Given the description of an element on the screen output the (x, y) to click on. 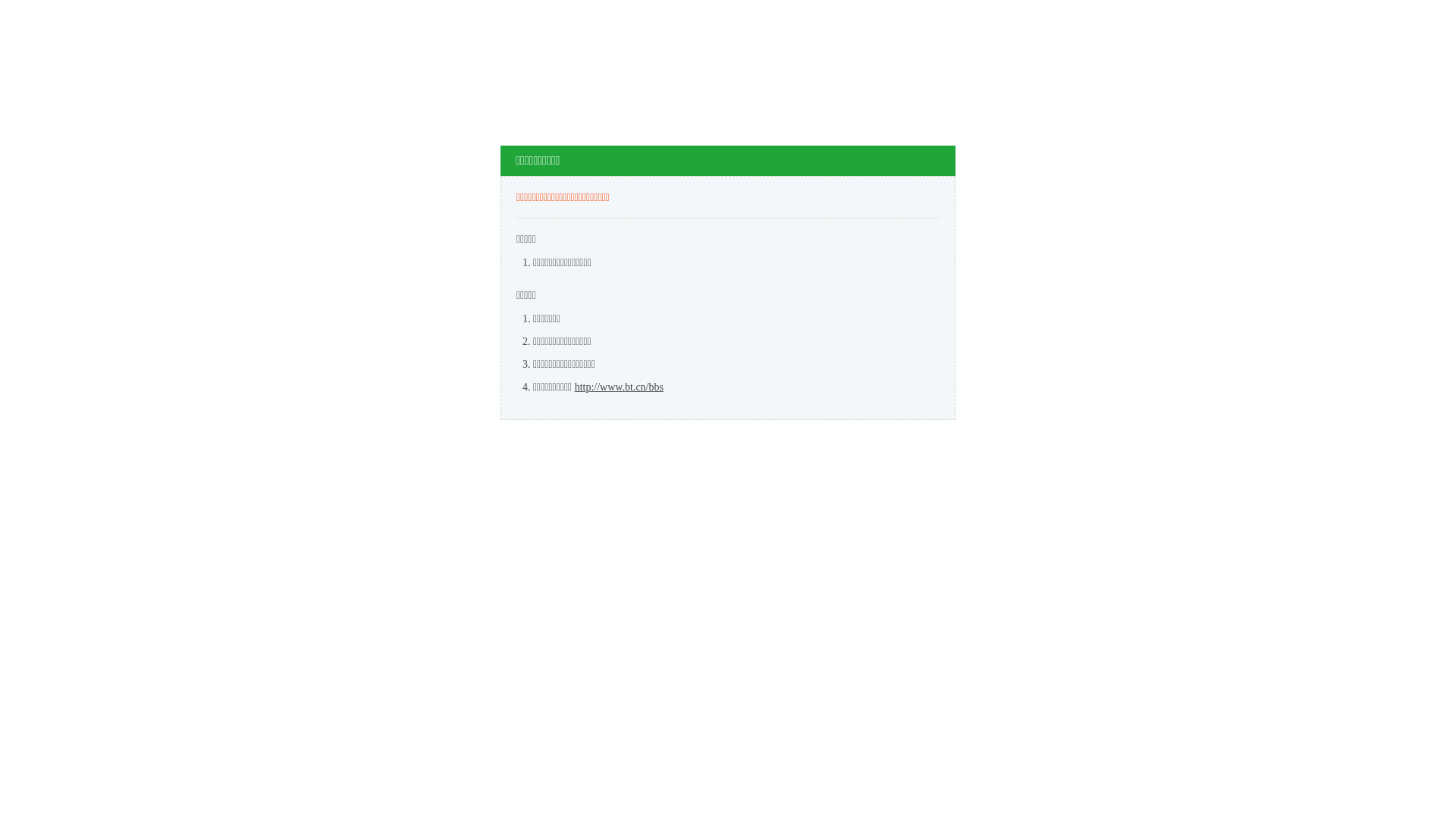
http://www.bt.cn/bbs Element type: text (618, 386)
